Given the description of an element on the screen output the (x, y) to click on. 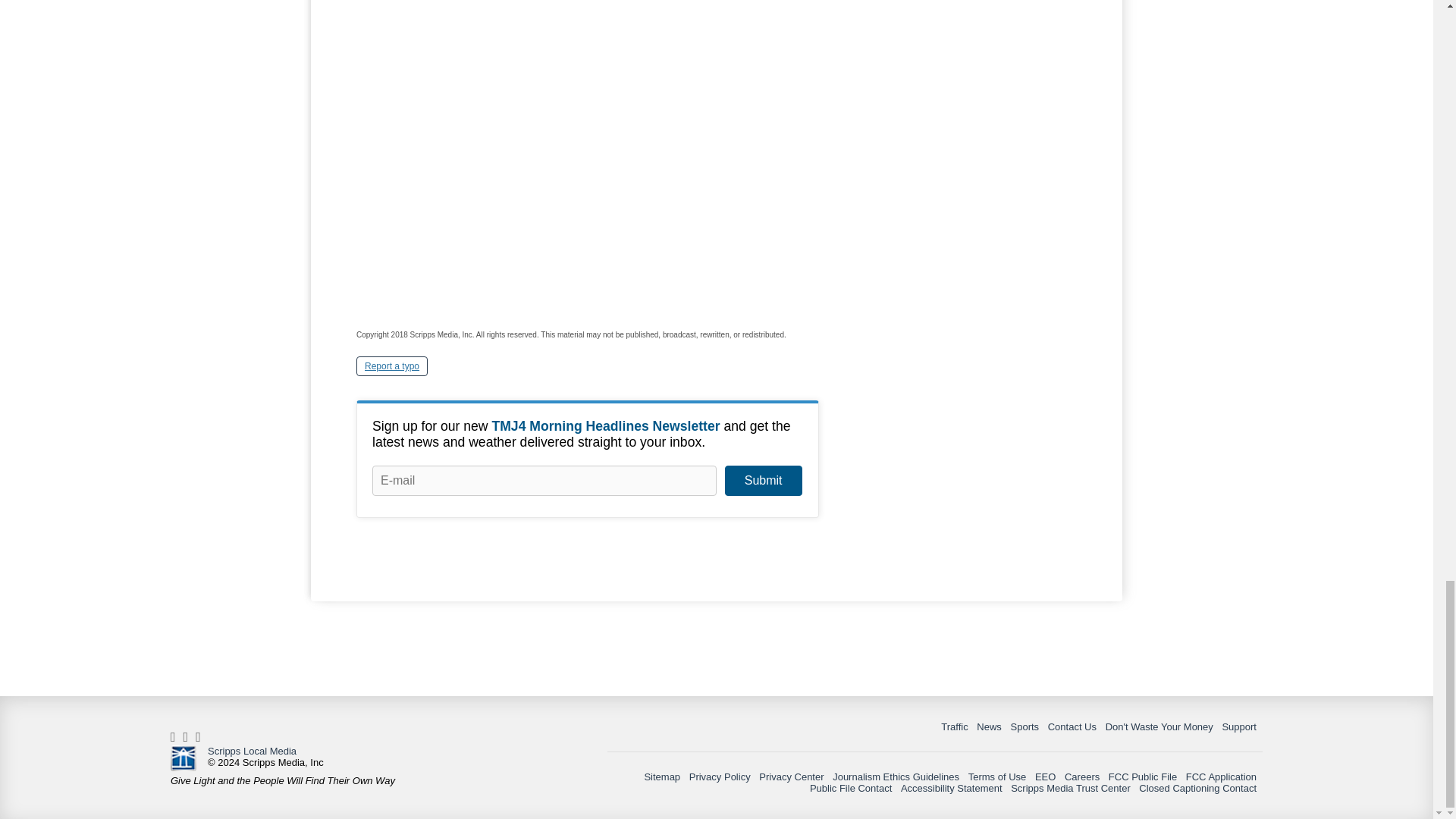
Submit (763, 481)
